Given the description of an element on the screen output the (x, y) to click on. 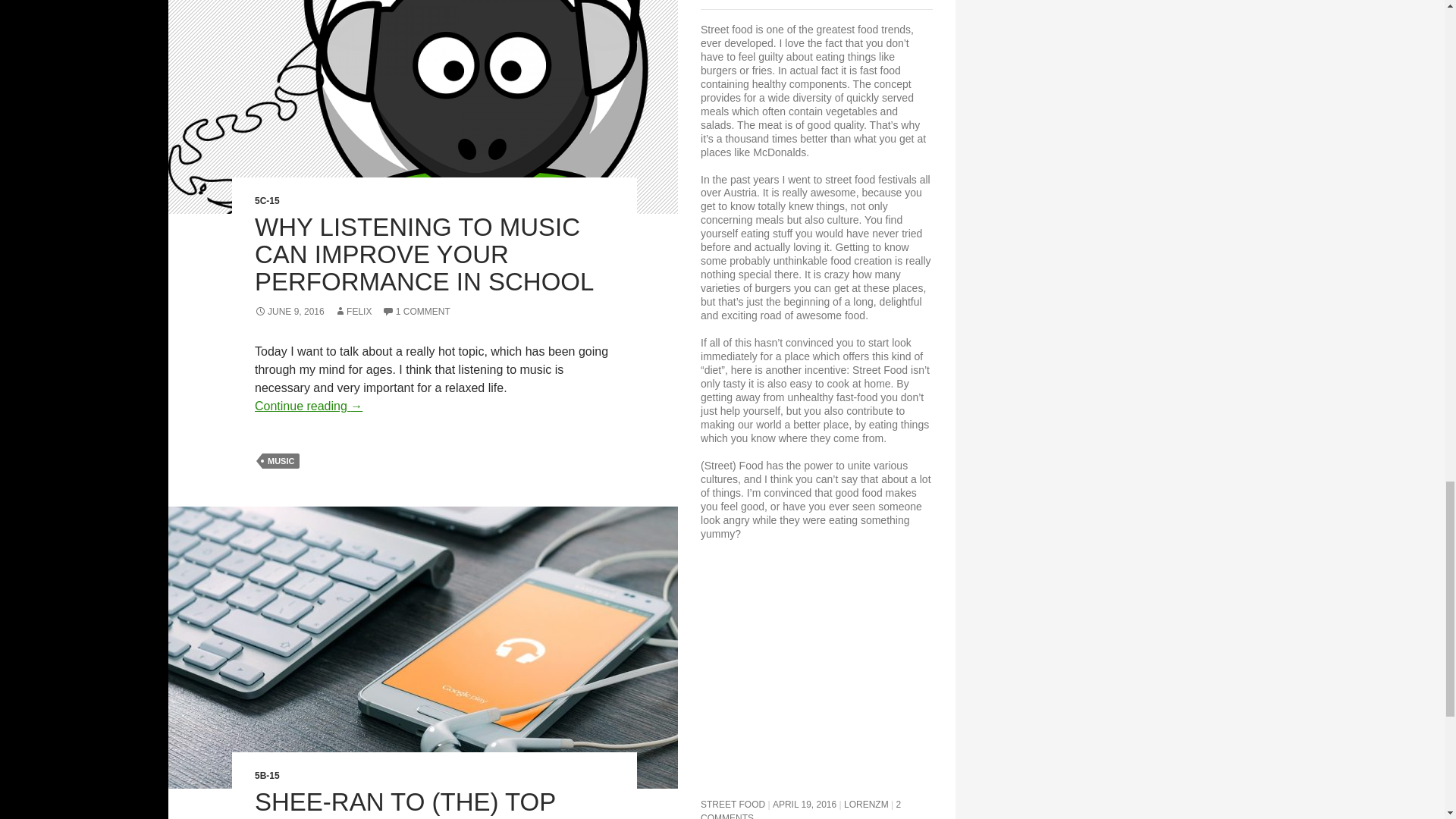
JUNE 9, 2016 (289, 311)
5B-15 (266, 775)
FELIX (352, 311)
5C-15 (266, 200)
MUSIC (280, 460)
1 COMMENT (415, 311)
